Given the description of an element on the screen output the (x, y) to click on. 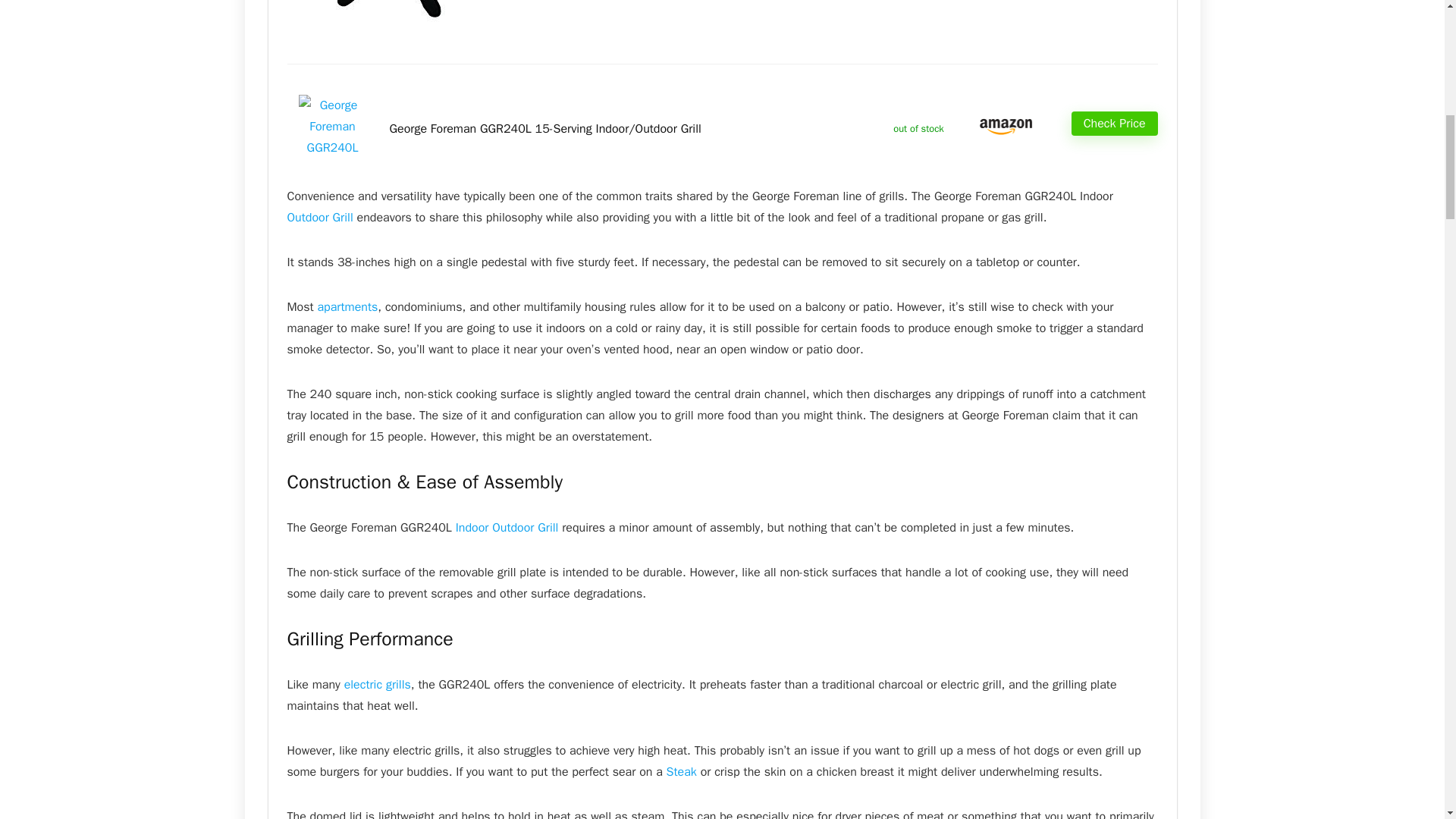
Outdoor Grill (319, 217)
apartments (347, 306)
Indoor Outdoor Grill (507, 527)
Check Price (1114, 122)
Steak (681, 771)
Steak (681, 771)
electric grills (376, 684)
Last update was on: August 18, 2024 9:14 am (918, 128)
